Given the description of an element on the screen output the (x, y) to click on. 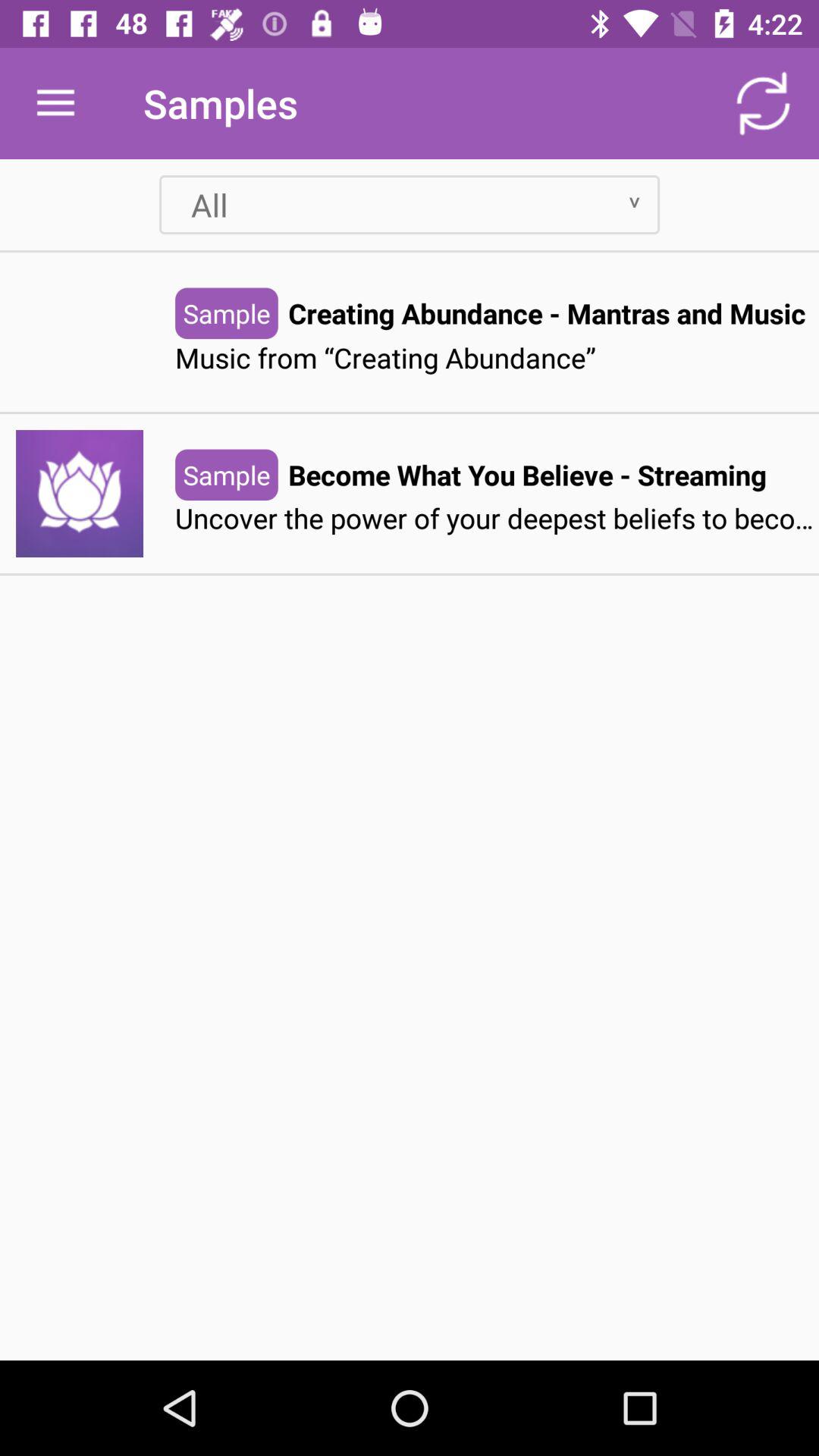
choose item at the center (497, 519)
